Given the description of an element on the screen output the (x, y) to click on. 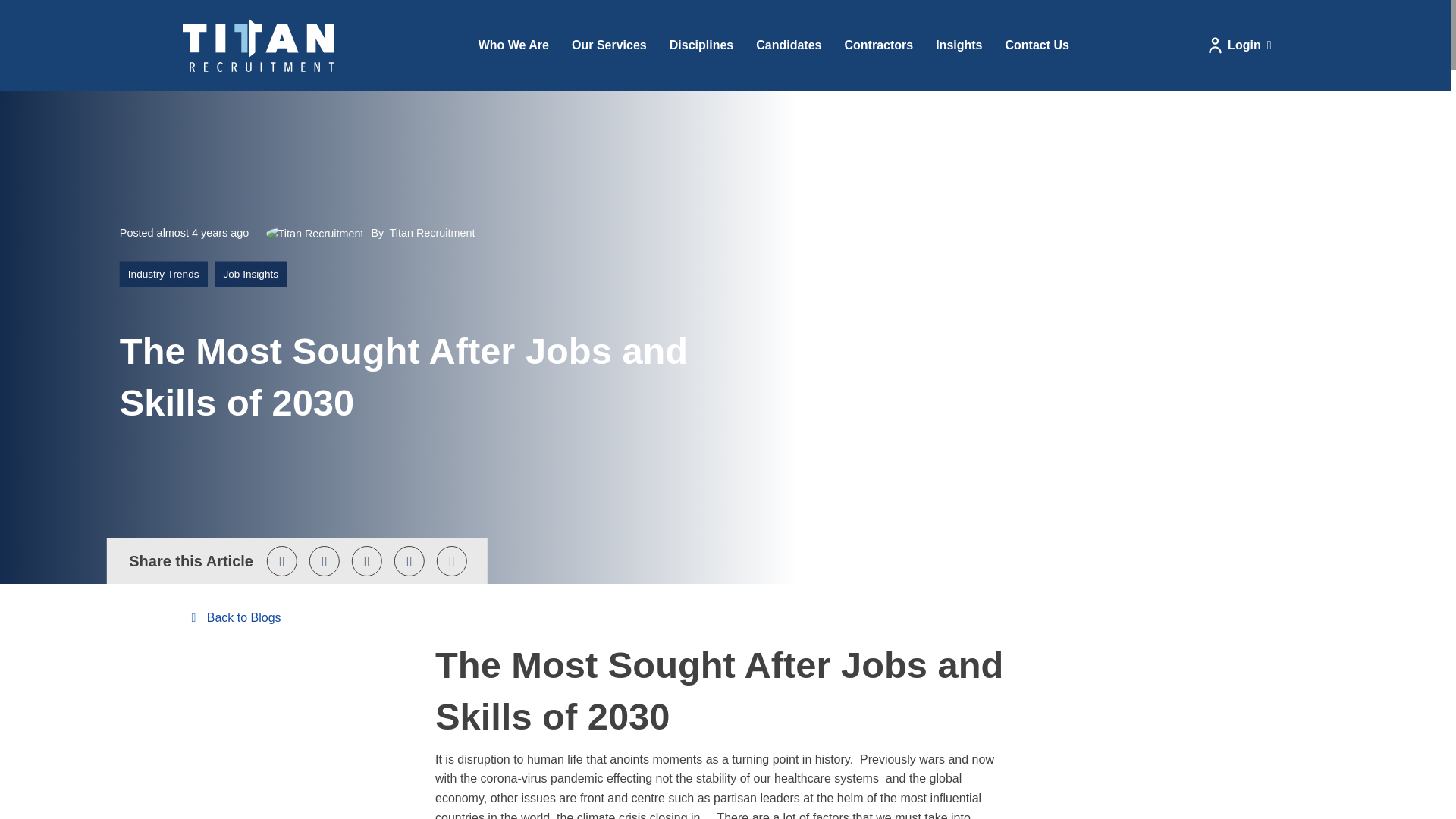
Insights (958, 45)
Share on LinkedIn (366, 561)
Contact Us (1036, 45)
Chatbot (1397, 761)
Email (409, 561)
Who We Are (513, 45)
Disciplines (701, 45)
Send in Whatsapp (451, 561)
Tweet this (281, 561)
Candidates (788, 45)
